Given the description of an element on the screen output the (x, y) to click on. 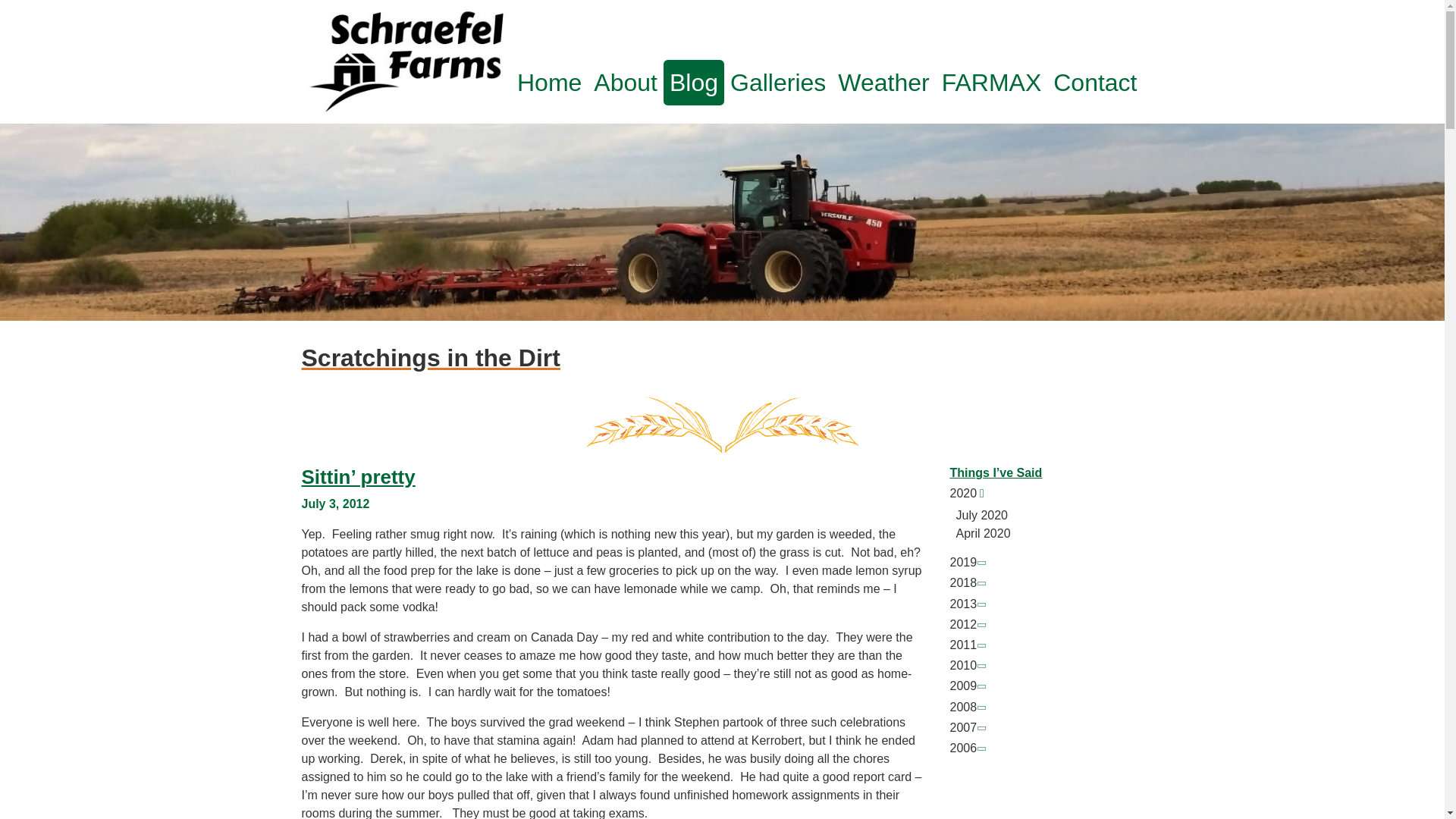
Home (549, 82)
Blog (693, 82)
Contact (1094, 82)
Contact (1094, 82)
Galleries (777, 82)
About (625, 82)
Weather (882, 82)
FARMAX (992, 82)
Galleries (777, 82)
Weather (882, 82)
